Given the description of an element on the screen output the (x, y) to click on. 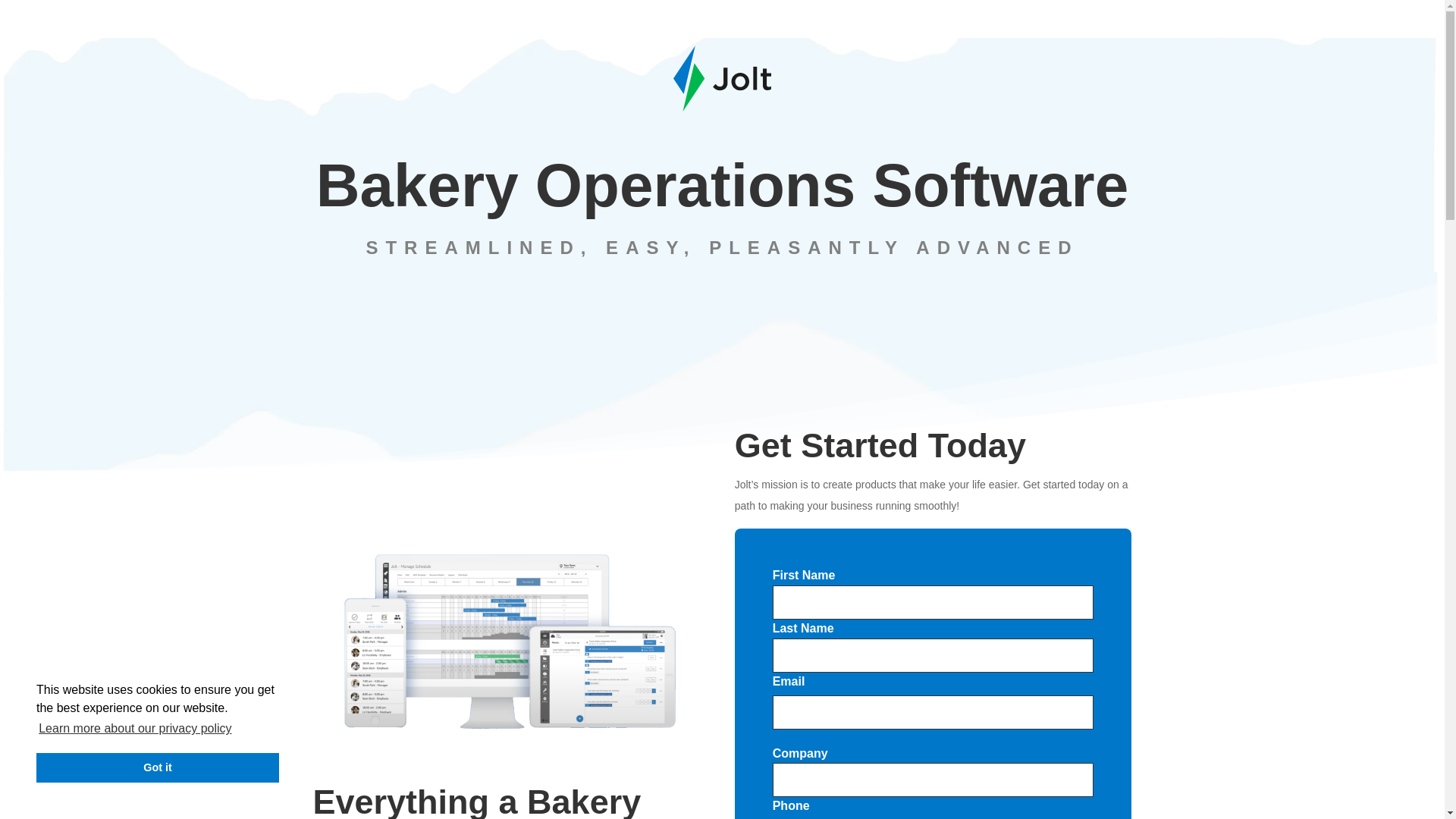
Jolt Tech Asset (511, 639)
Learn more about our privacy policy (135, 728)
jolt-logo-1 (721, 78)
Got it (157, 767)
